Given the description of an element on the screen output the (x, y) to click on. 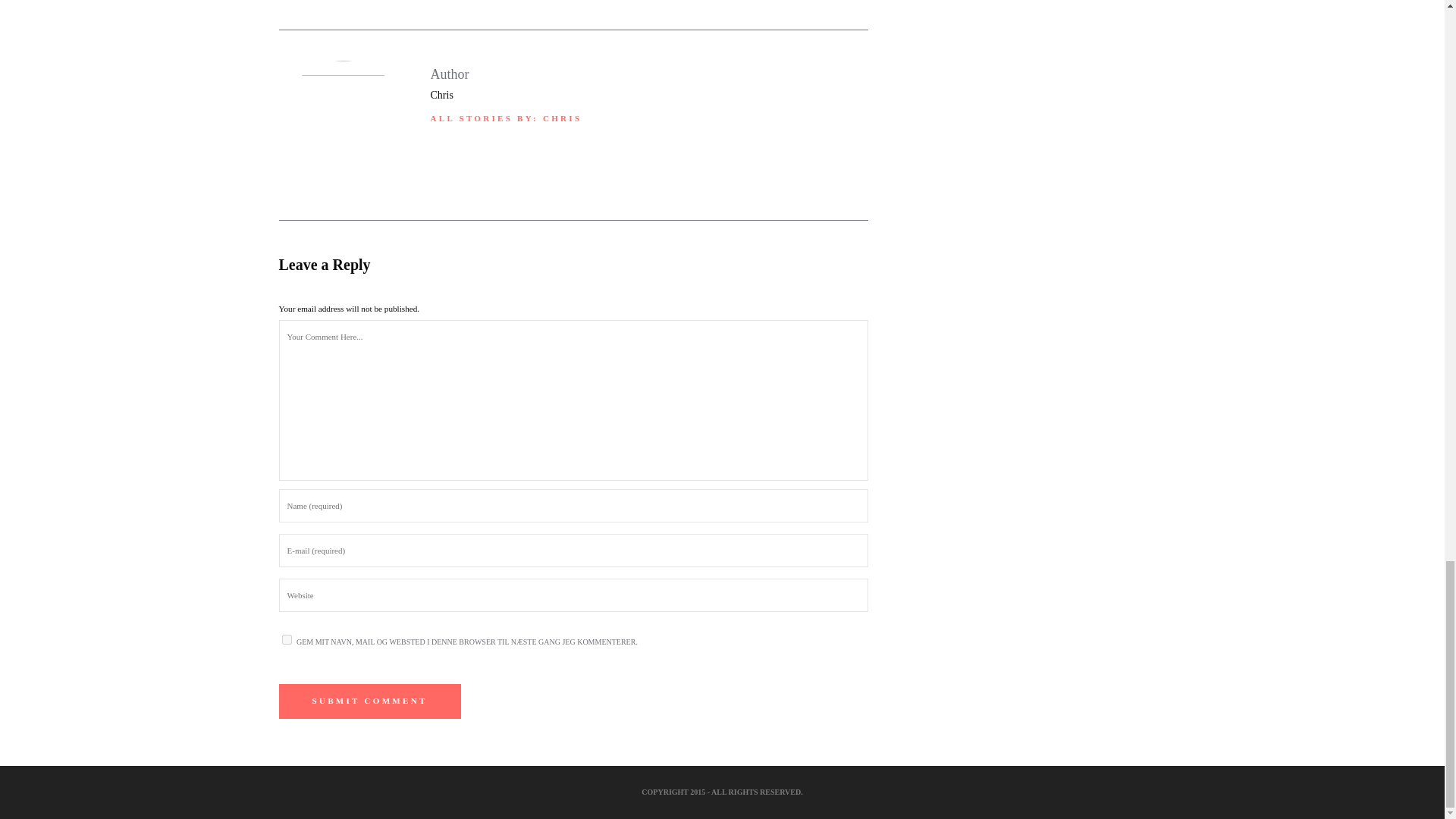
Submit Comment (370, 701)
yes (287, 639)
Submit Comment (370, 701)
ALL STORIES BY: CHRIS (506, 117)
